Given the description of an element on the screen output the (x, y) to click on. 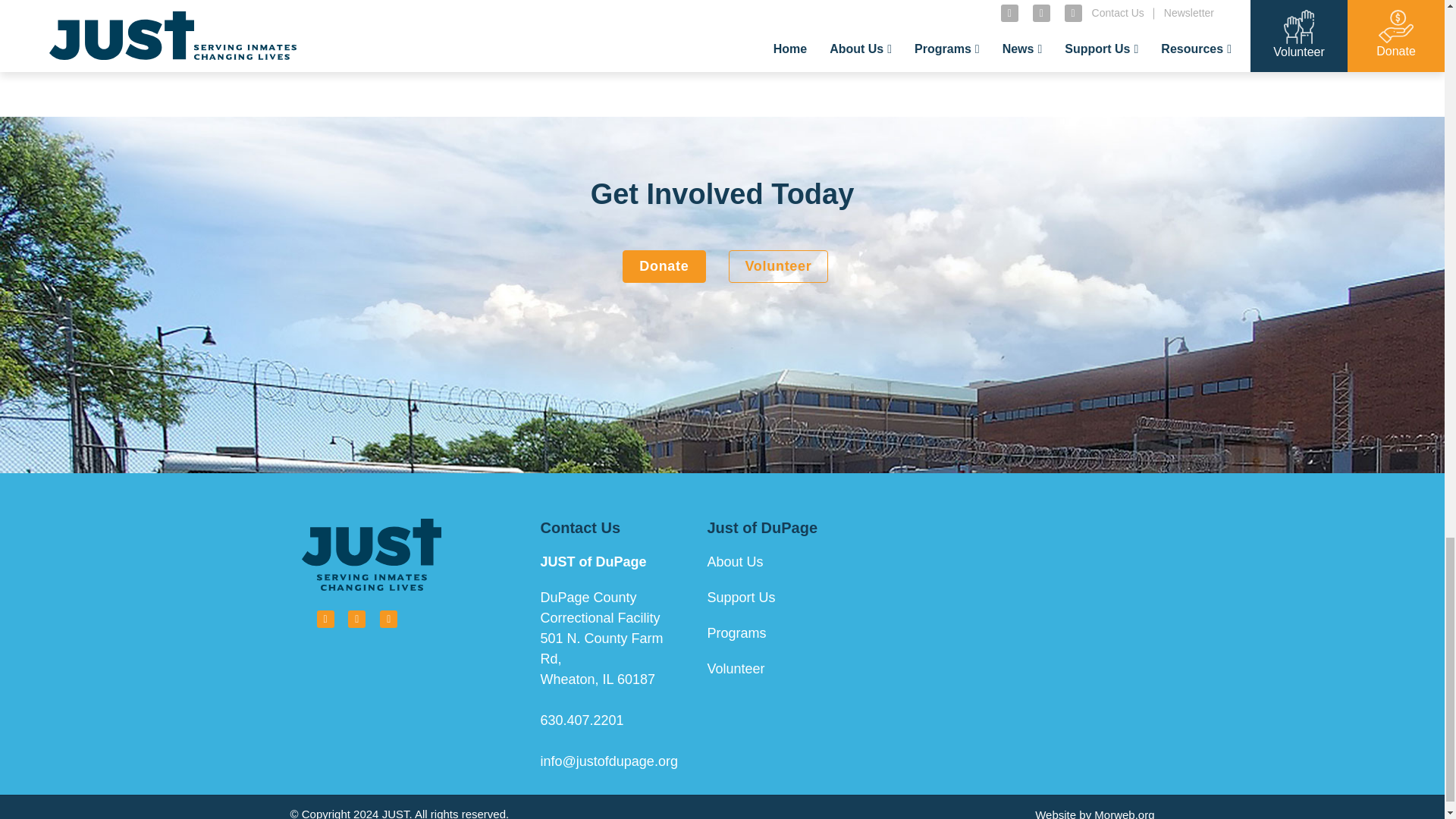
Donate (663, 266)
Volunteer (778, 266)
